Given the description of an element on the screen output the (x, y) to click on. 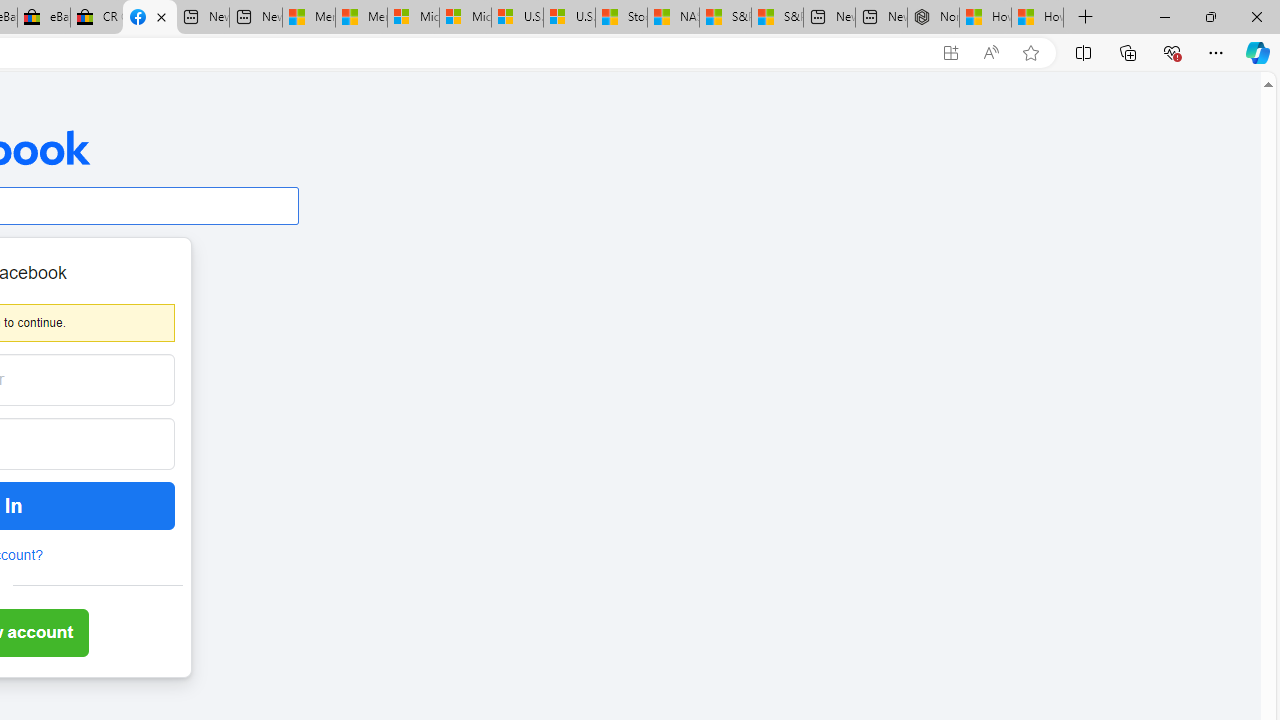
How to Use a Monitor With Your Closed Laptop (1037, 17)
